Given the description of an element on the screen output the (x, y) to click on. 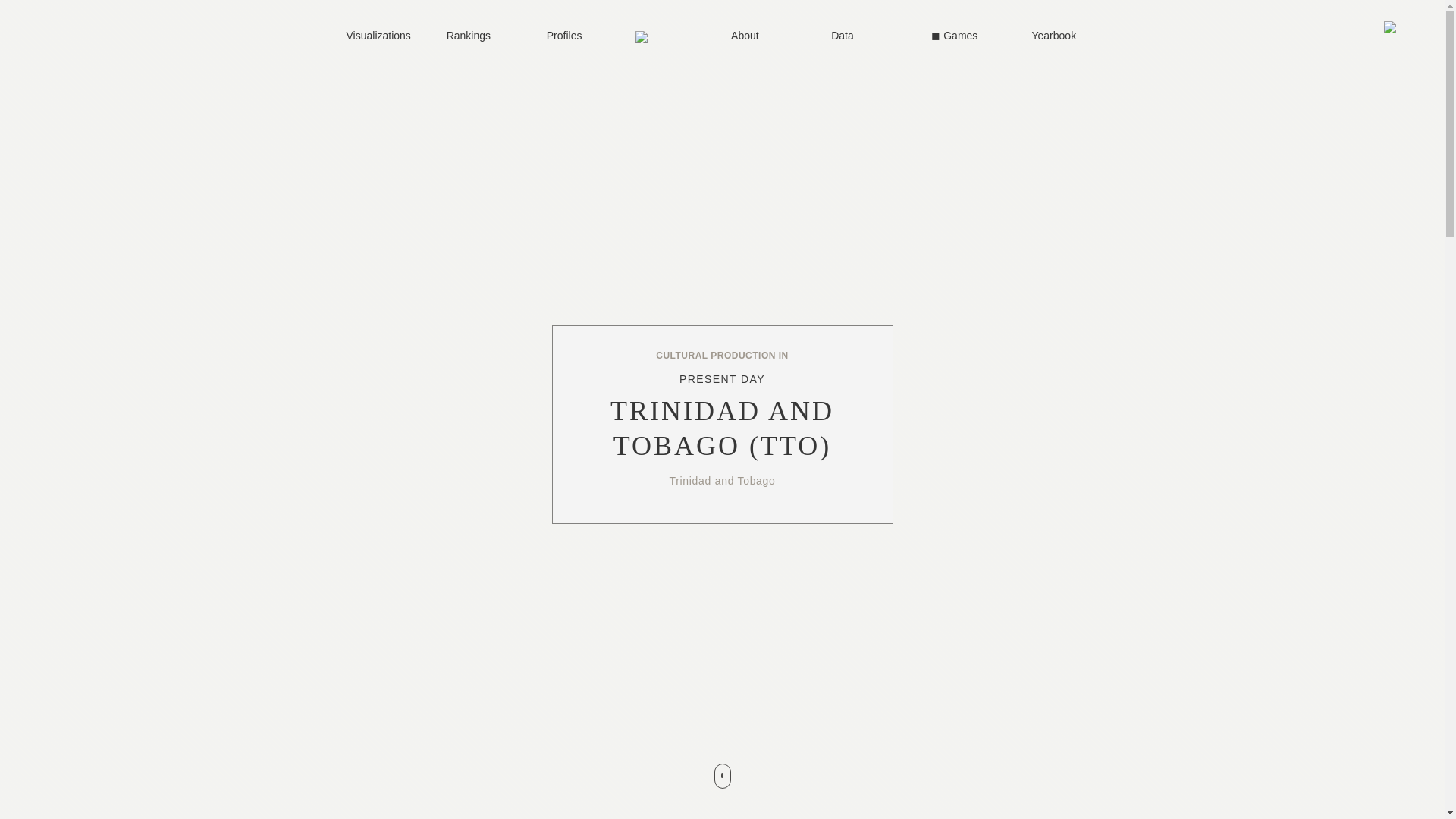
Profiles (579, 36)
Rankings (479, 36)
About (763, 36)
Yearbook (1063, 36)
Visualizations (379, 36)
Trinidad and Tobago (721, 480)
Data (864, 36)
